Given the description of an element on the screen output the (x, y) to click on. 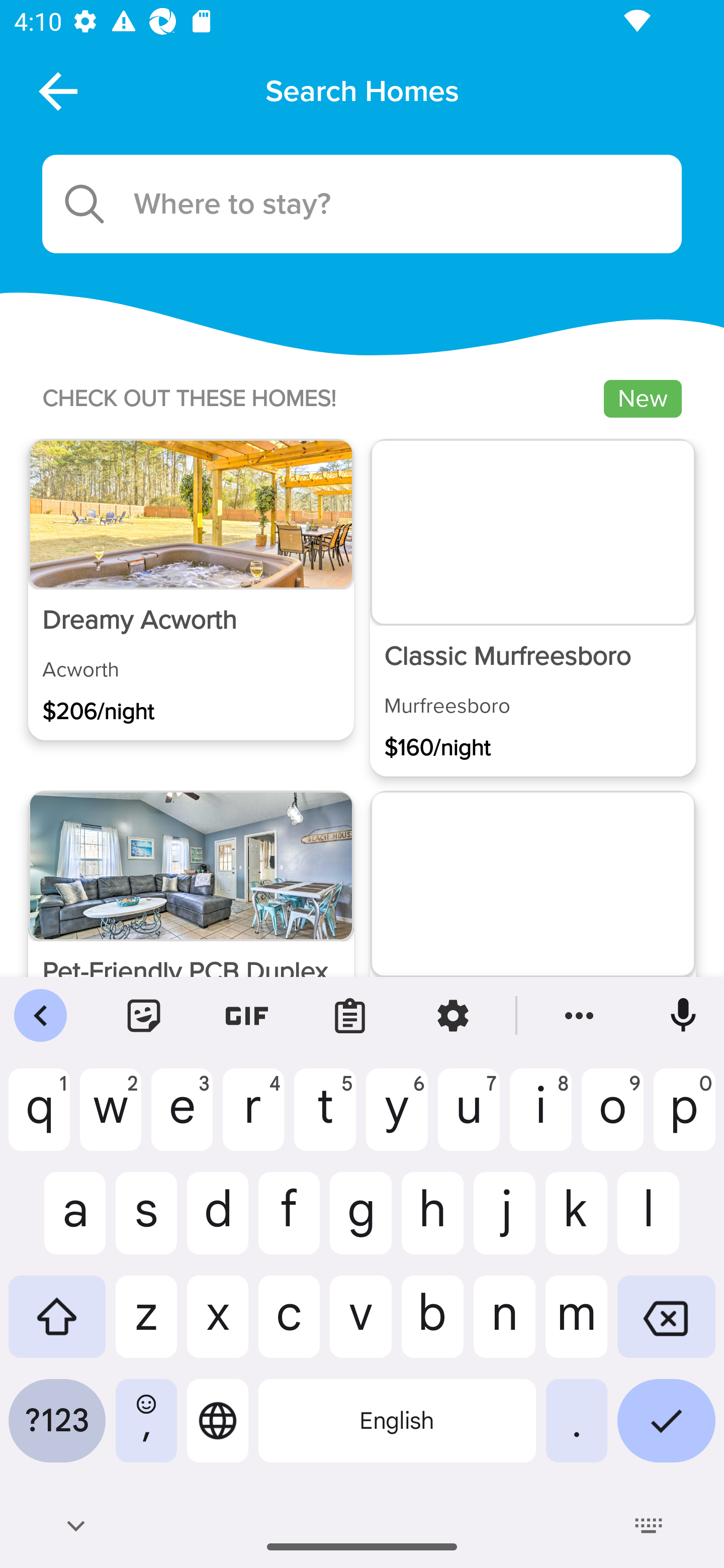
Icon close screen (55, 90)
Search icon Where to stay? (361, 204)
‍Pet-Friendly PCB Duplex - Walk to Beach! (191, 940)
